Given the description of an element on the screen output the (x, y) to click on. 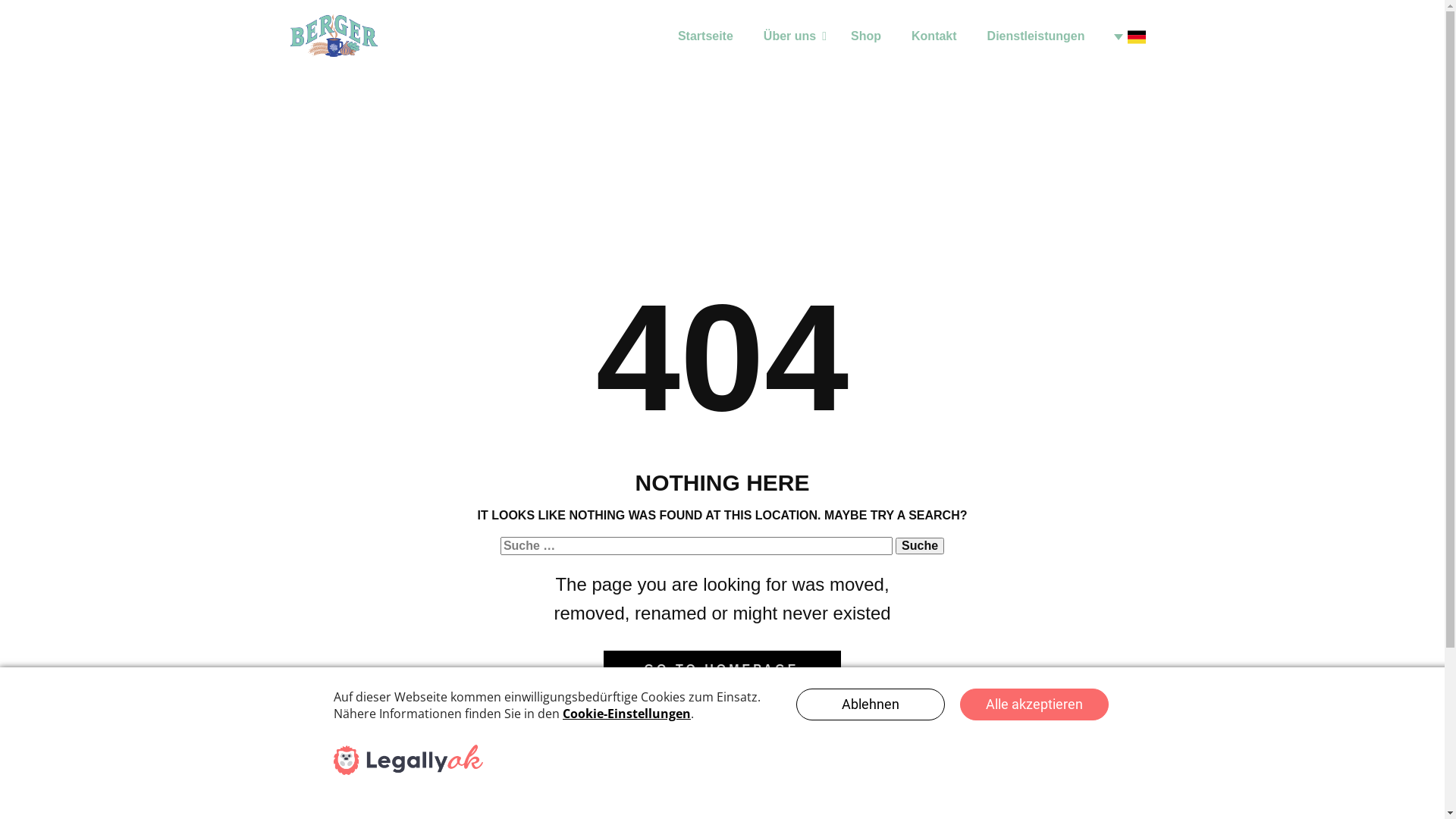
Shop Element type: text (865, 36)
Startseite Element type: hover (332, 35)
Startseite Element type: text (705, 36)
Dienstleistungen Element type: text (1036, 36)
Kontakt Element type: text (934, 36)
GO TO HOMEPAGE Element type: text (722, 669)
Suche Element type: text (919, 545)
